Given the description of an element on the screen output the (x, y) to click on. 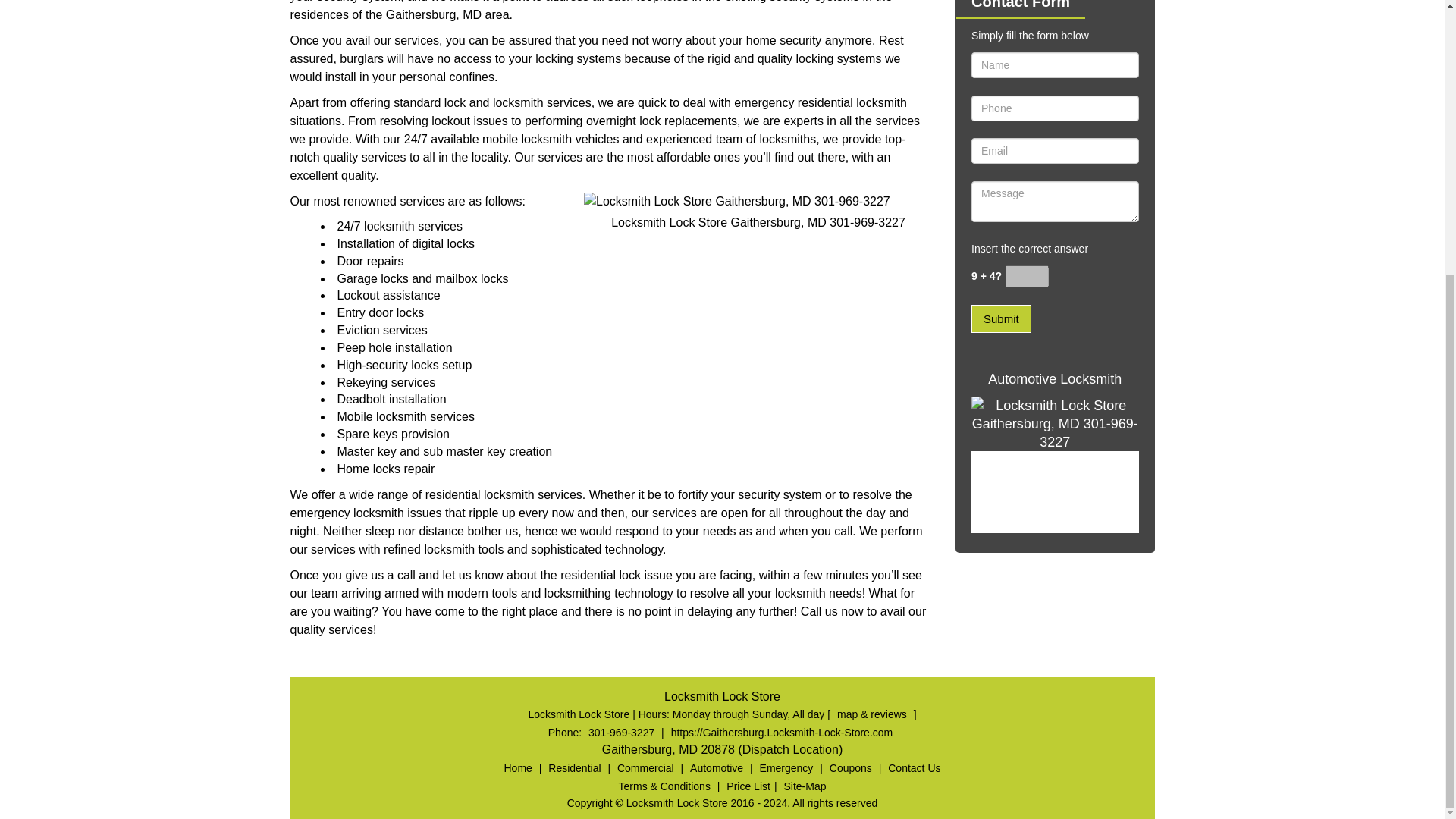
Automotive Locksmith (1054, 379)
301-969-3227 (621, 732)
Submit (1000, 318)
Locksmith Lock Store Gaithersburg, MD 301-969-3227 (1054, 464)
Email Field required (1054, 150)
Contact Us (913, 767)
Message Field require (1054, 200)
Site-Map (803, 786)
Coupons (850, 767)
Residential (574, 767)
